Given the description of an element on the screen output the (x, y) to click on. 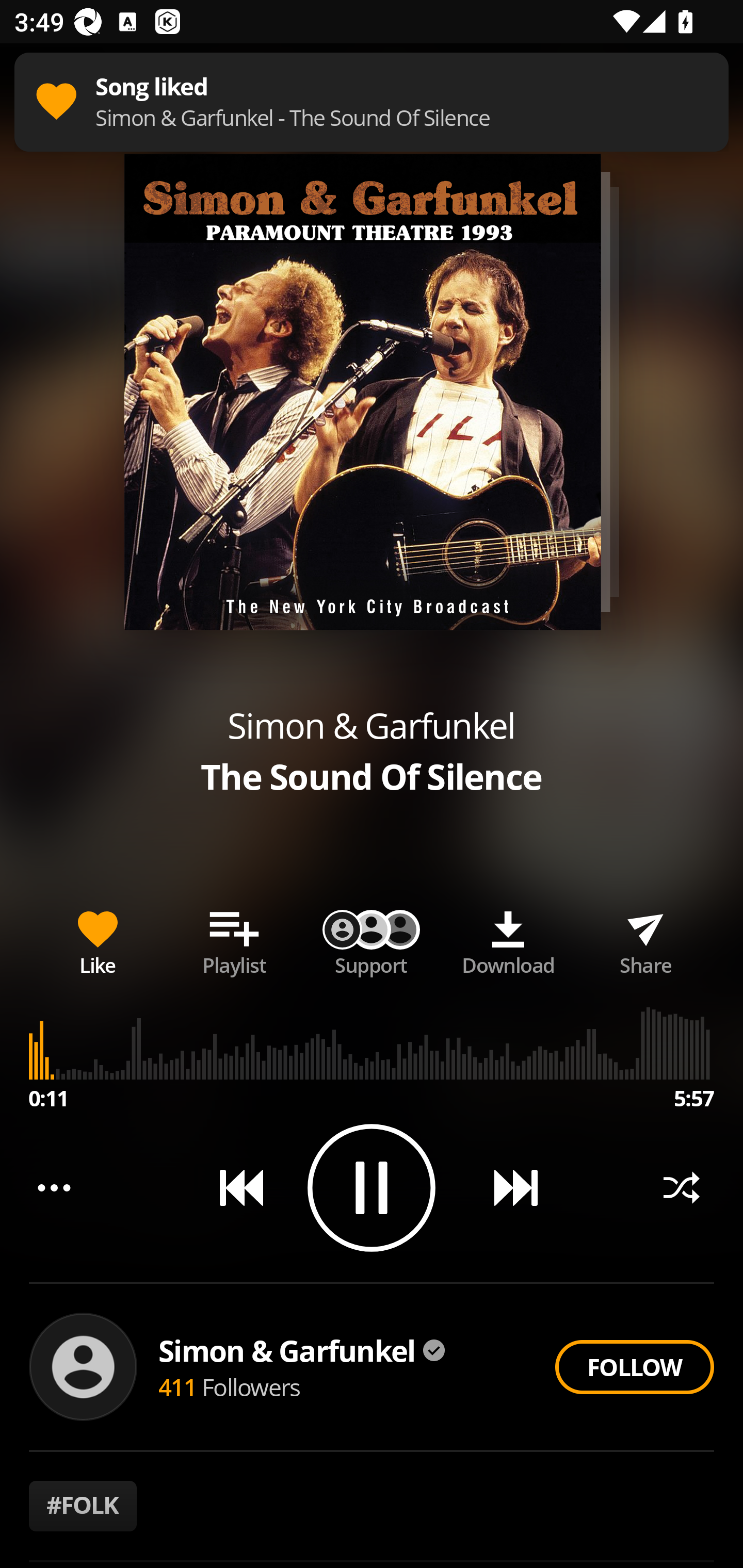
Minimise player (49, 93)
Album art (362, 391)
Simon & Garfunkel (370, 724)
Like (97, 939)
Add song to playlist Playlist (234, 939)
Support (371, 939)
Download (507, 939)
Share (645, 939)
Play/Pause (371, 1187)
Previous song (233, 1187)
Next song (508, 1187)
Simon & Garfunkel (302, 1350)
FOLLOW Follow (634, 1366)
411 (177, 1386)
#FOLK (82, 1505)
